Given the description of an element on the screen output the (x, y) to click on. 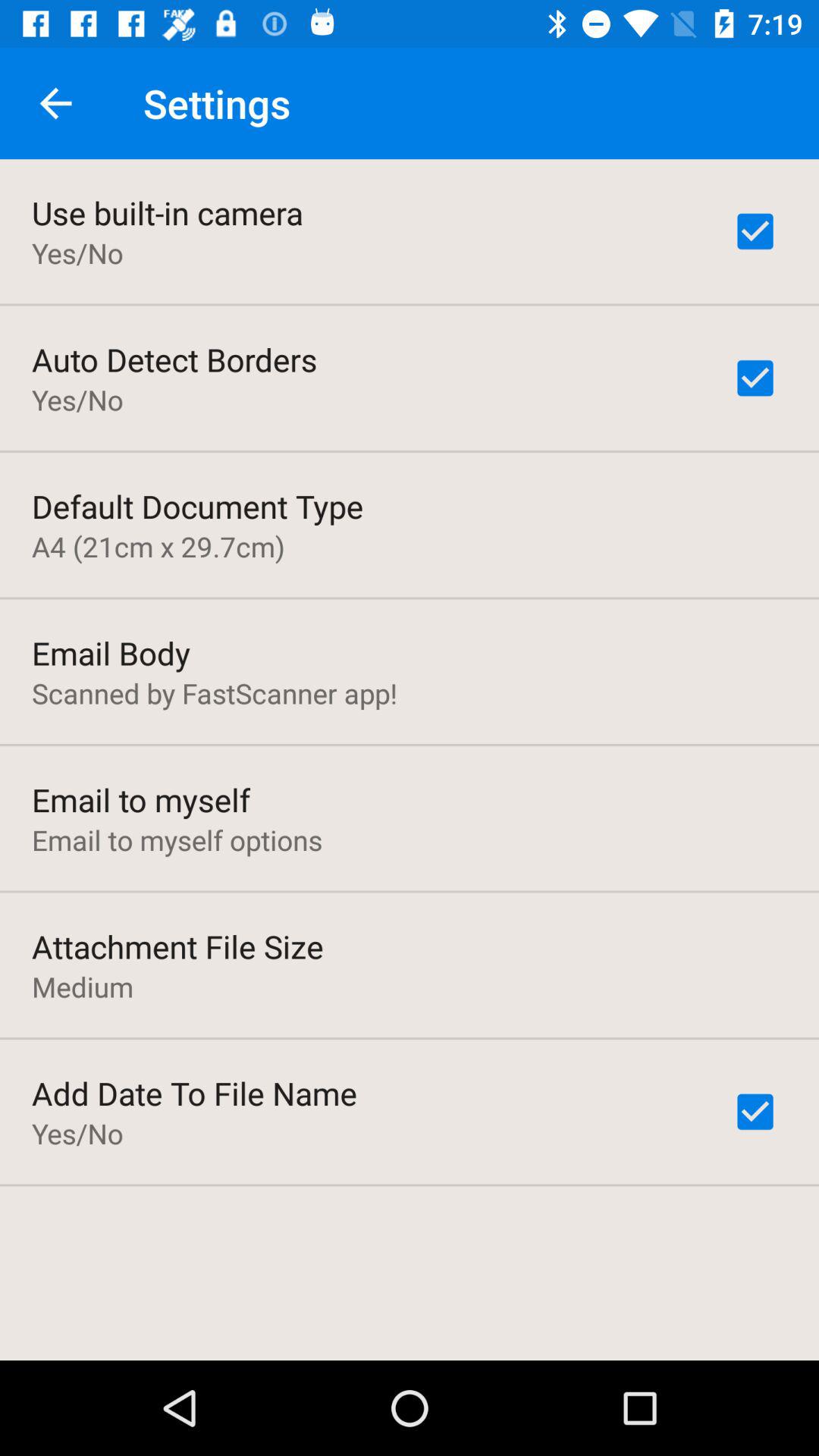
swipe to the a4 21cm x icon (157, 546)
